Given the description of an element on the screen output the (x, y) to click on. 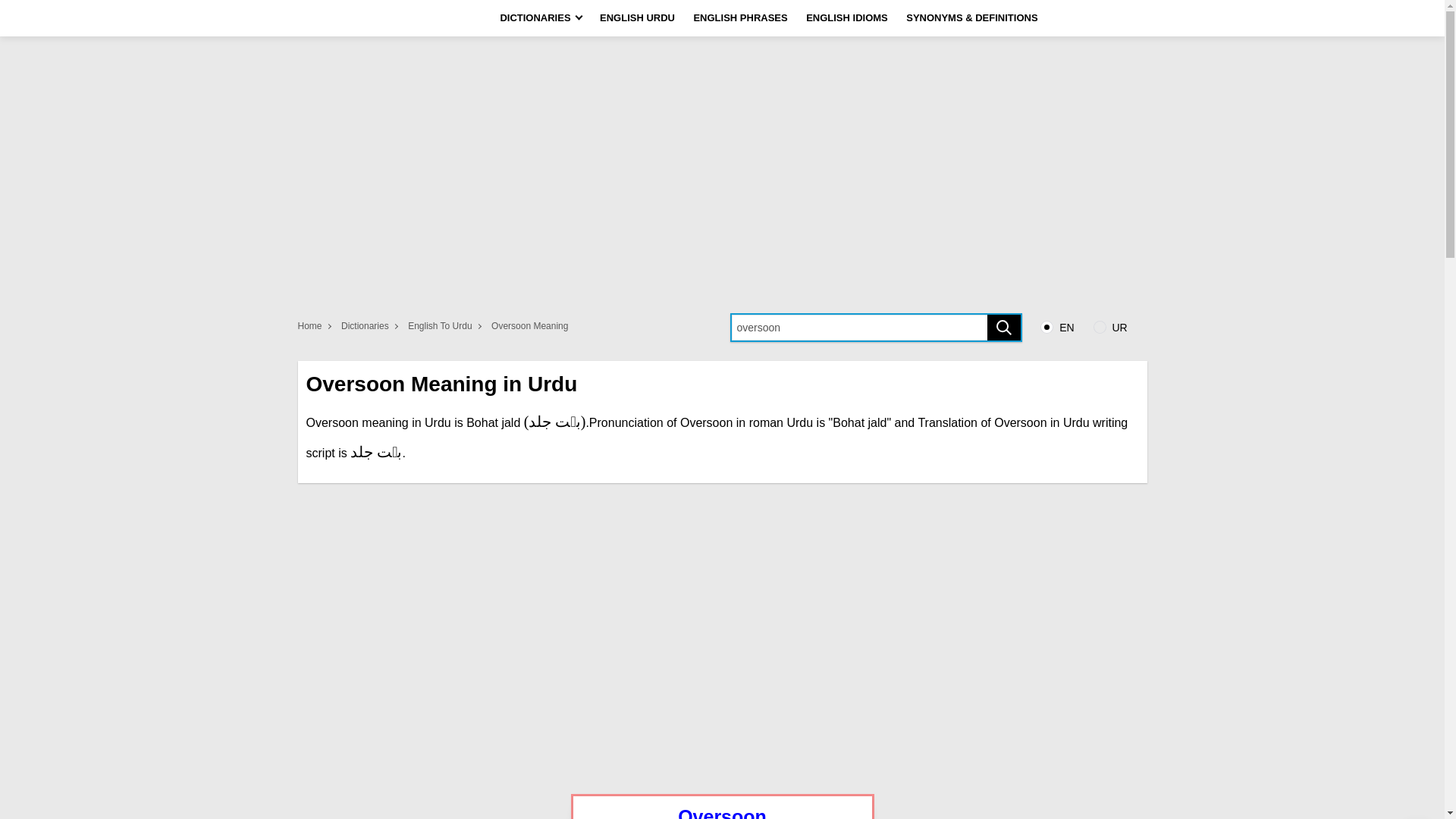
Home (317, 325)
oversoon (875, 327)
oversoon (875, 327)
English To Urdu (447, 325)
ENGLISH URDU (637, 18)
Dictionaries (372, 325)
ENGLISH IDIOMS (846, 18)
Oversoon Meaning (531, 325)
ENGLISH PHRASES (739, 18)
DICTIONARIES (540, 18)
Hamariweb (343, 18)
Oversoon (722, 812)
